Given the description of an element on the screen output the (x, y) to click on. 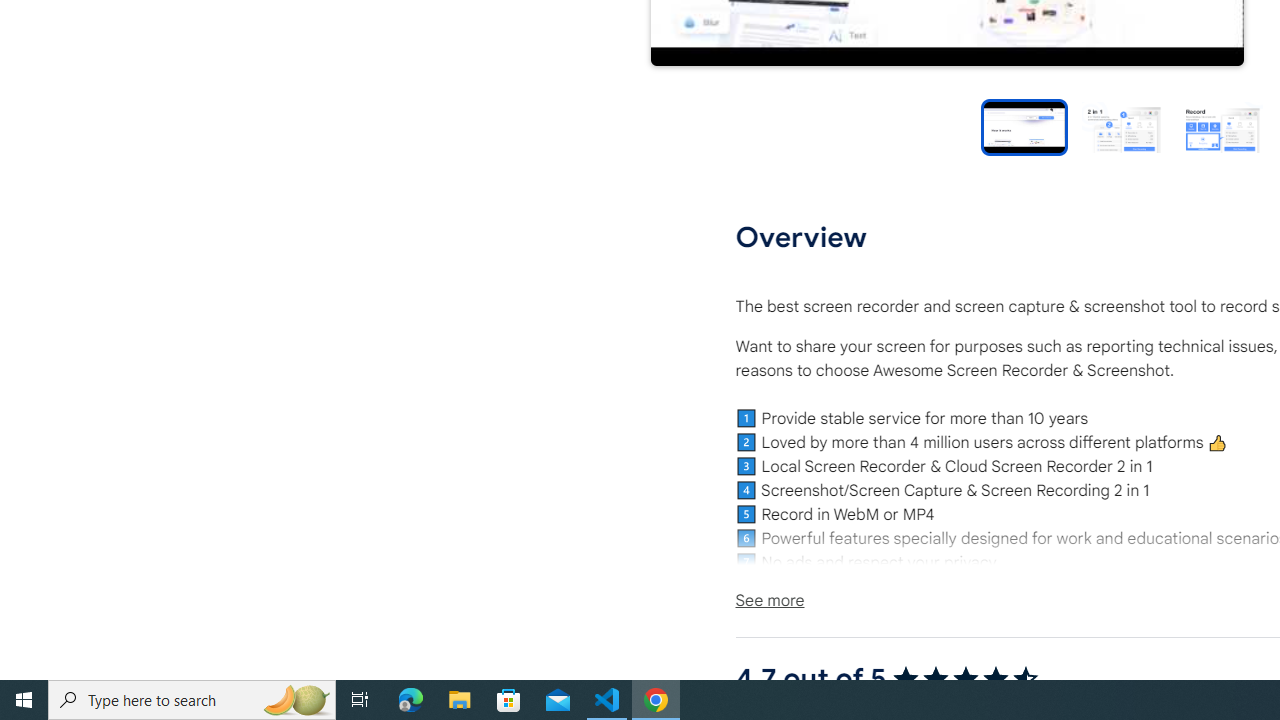
Preview slide 2 (1122, 126)
Preview slide 1 (1024, 126)
Preview slide 3 (1222, 126)
Item video thumbnail (1024, 126)
4.7 out of 5 stars (964, 678)
